Given the description of an element on the screen output the (x, y) to click on. 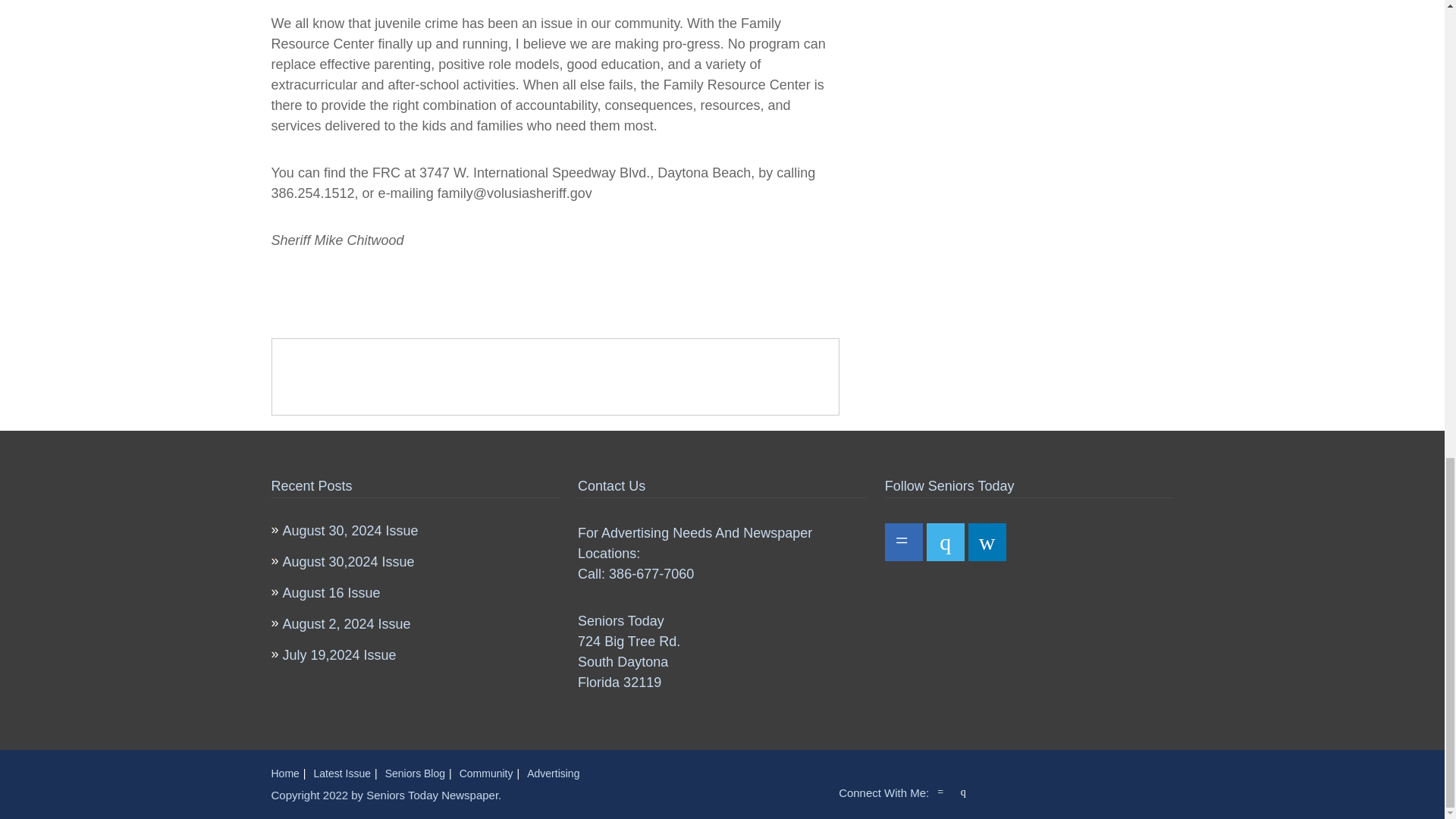
August 30,2024 Issue (347, 561)
August 2, 2024 Issue (346, 623)
Home (284, 773)
Community (486, 773)
August 16 Issue (331, 592)
Seniors Blog (415, 773)
Latest Issue (342, 773)
July 19,2024 Issue (339, 654)
August 30, 2024 Issue (349, 530)
Advertising (553, 773)
